Given the description of an element on the screen output the (x, y) to click on. 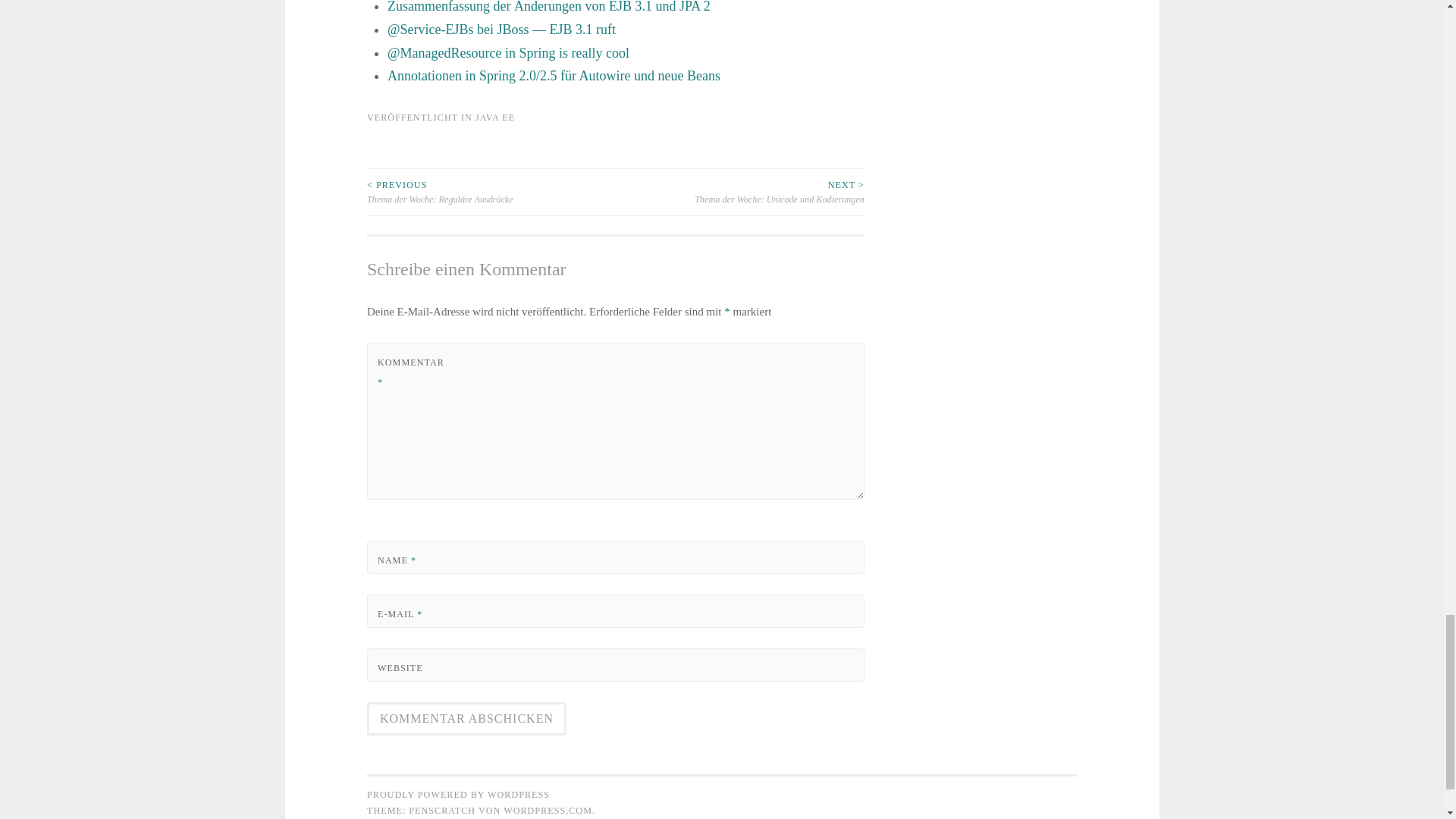
Kommentar abschicken (466, 718)
PROUDLY POWERED BY WORDPRESS (458, 794)
WORDPRESS.COM (547, 810)
Kommentar abschicken (466, 718)
JAVA EE (495, 117)
